Given the description of an element on the screen output the (x, y) to click on. 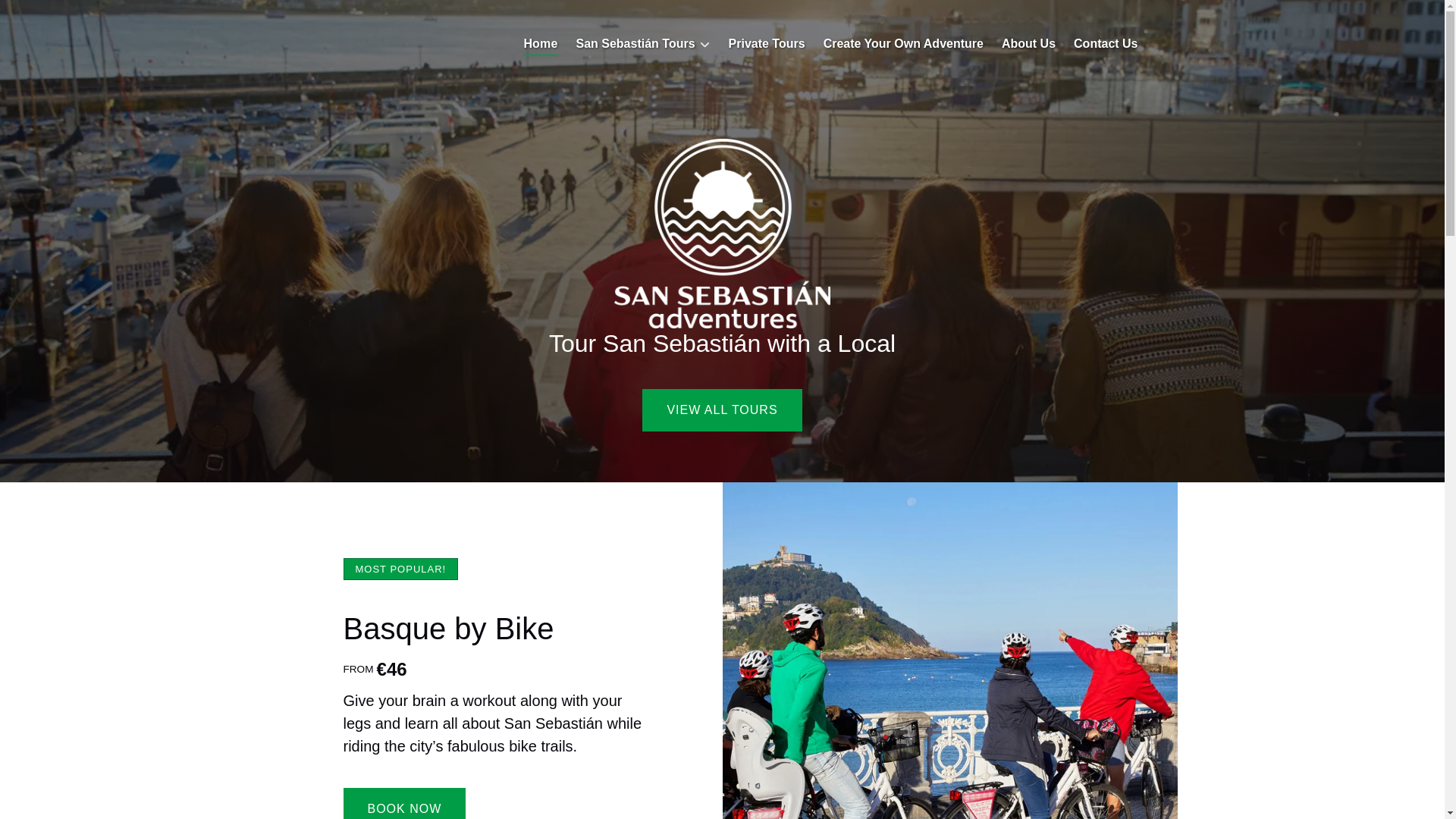
Click here to visit Basque by Bike (447, 628)
Skip to footer (42, 16)
Home (539, 43)
BOOK NOW (403, 796)
Create Your Own Adventure (902, 43)
Skip to primary navigation (77, 16)
Private Tours (766, 43)
About Us (1028, 43)
VIEW ALL TOURS (722, 367)
Contact Us (1105, 43)
Skip to content (47, 16)
Basque by Bike (447, 628)
